Given the description of an element on the screen output the (x, y) to click on. 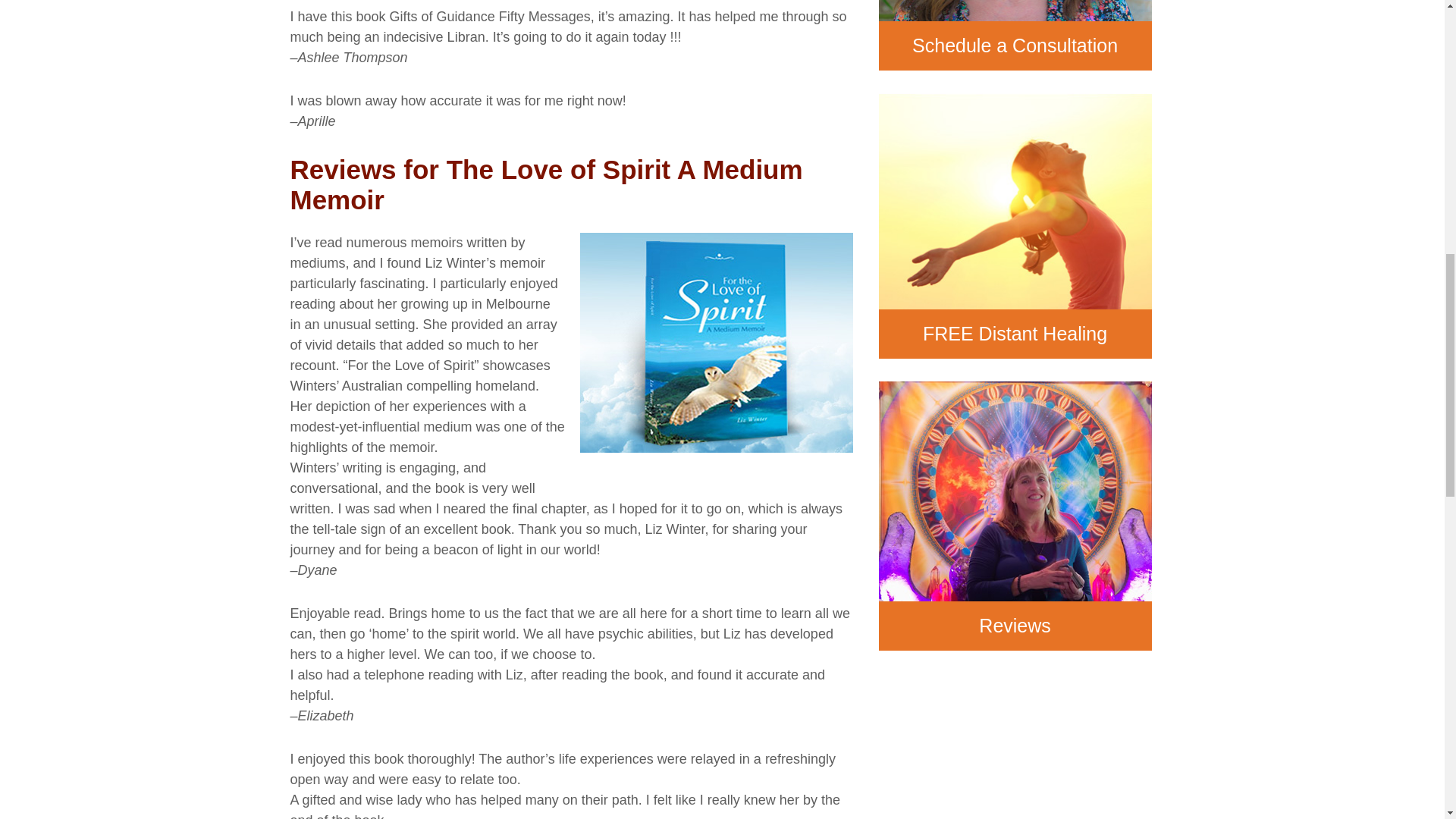
Schedule a Consultation (1015, 35)
Reviews (1015, 515)
FREE Distant Healing (1015, 225)
